Given the description of an element on the screen output the (x, y) to click on. 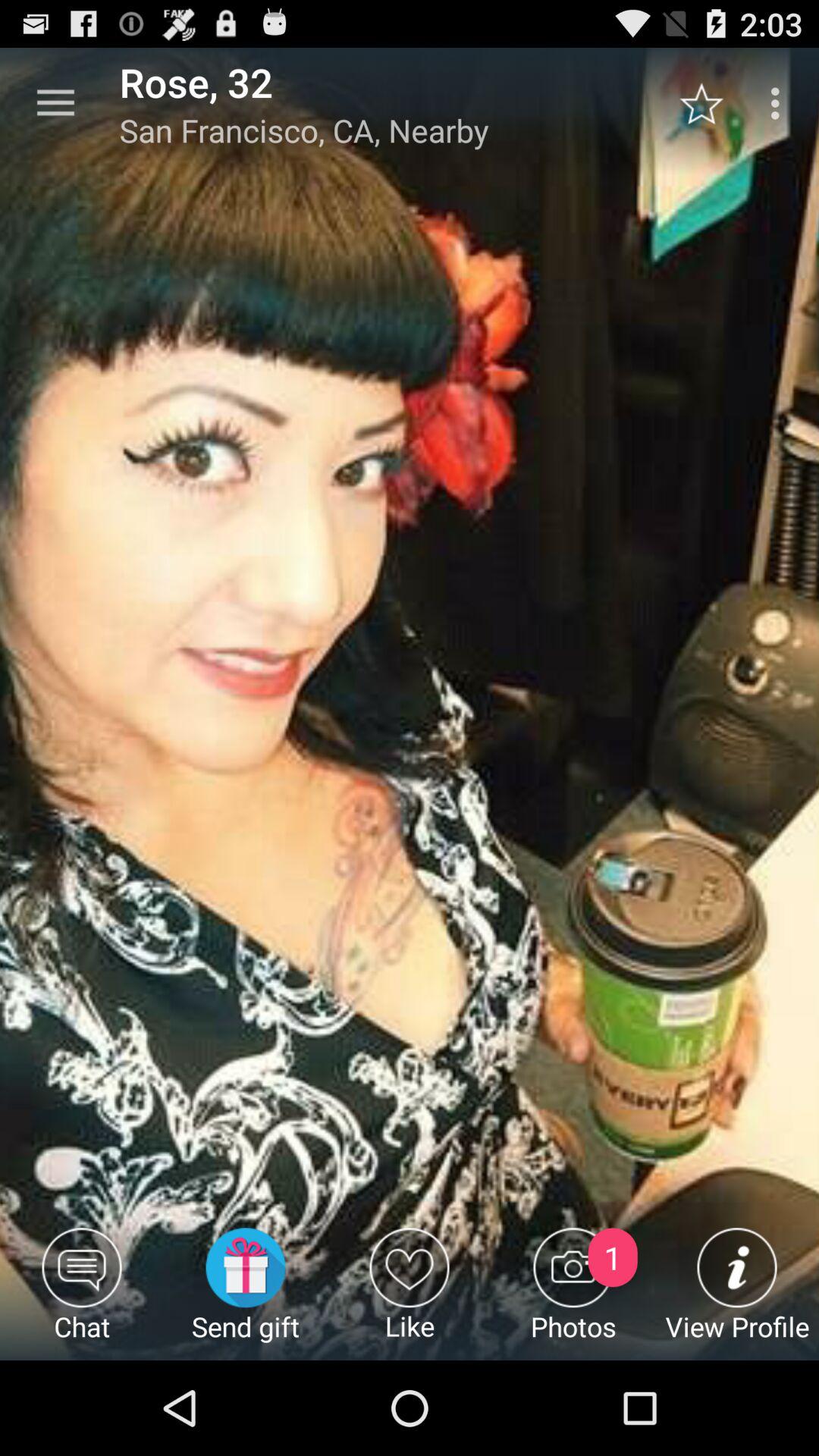
open the item next to send gift icon (81, 1293)
